Given the description of an element on the screen output the (x, y) to click on. 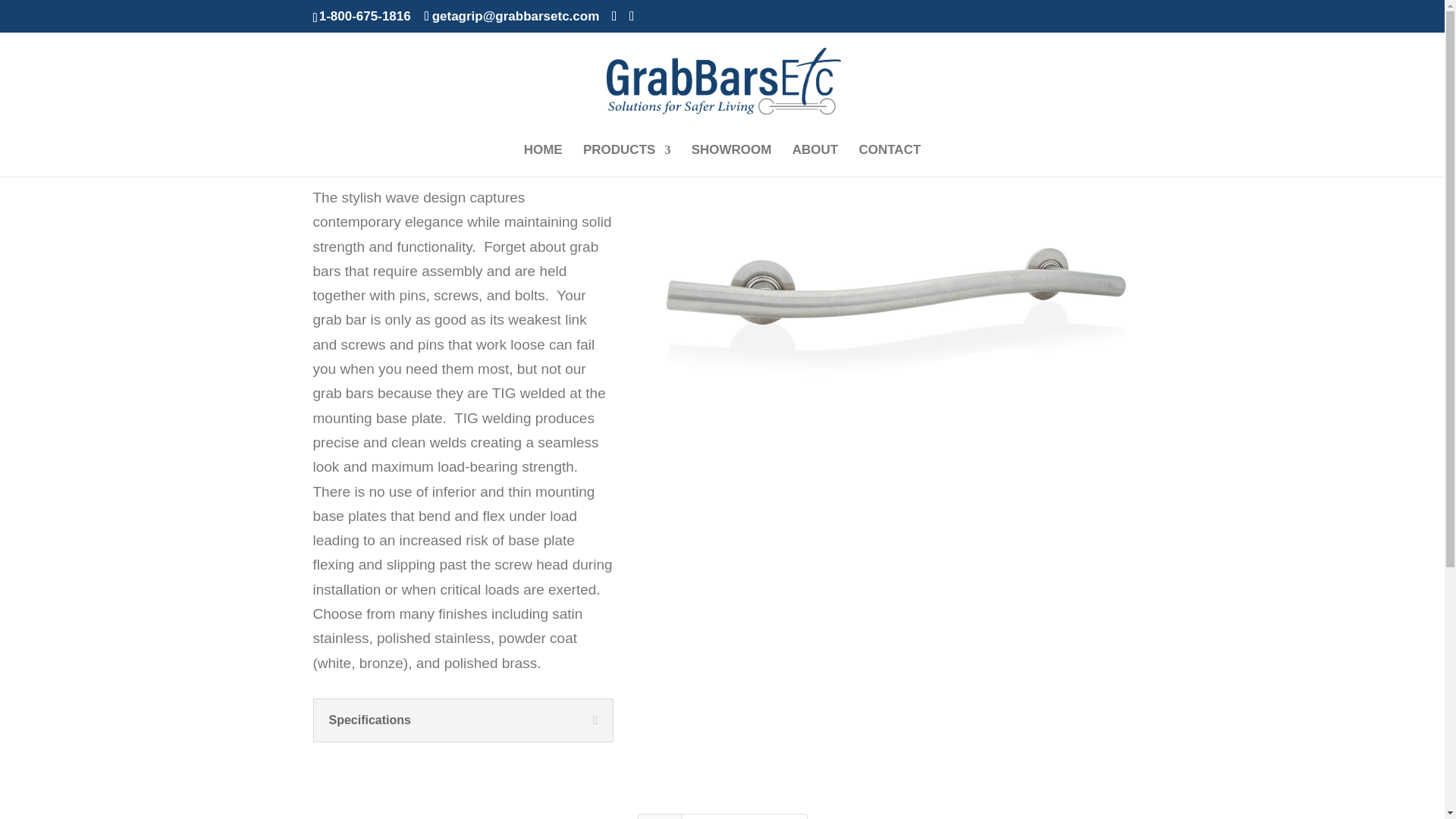
ABOUT (815, 160)
All (659, 816)
SHOWROOM (731, 160)
PRODUCTS (626, 160)
Specialty Grab Bars (744, 816)
HOME (543, 160)
CONTACT (889, 160)
